Given the description of an element on the screen output the (x, y) to click on. 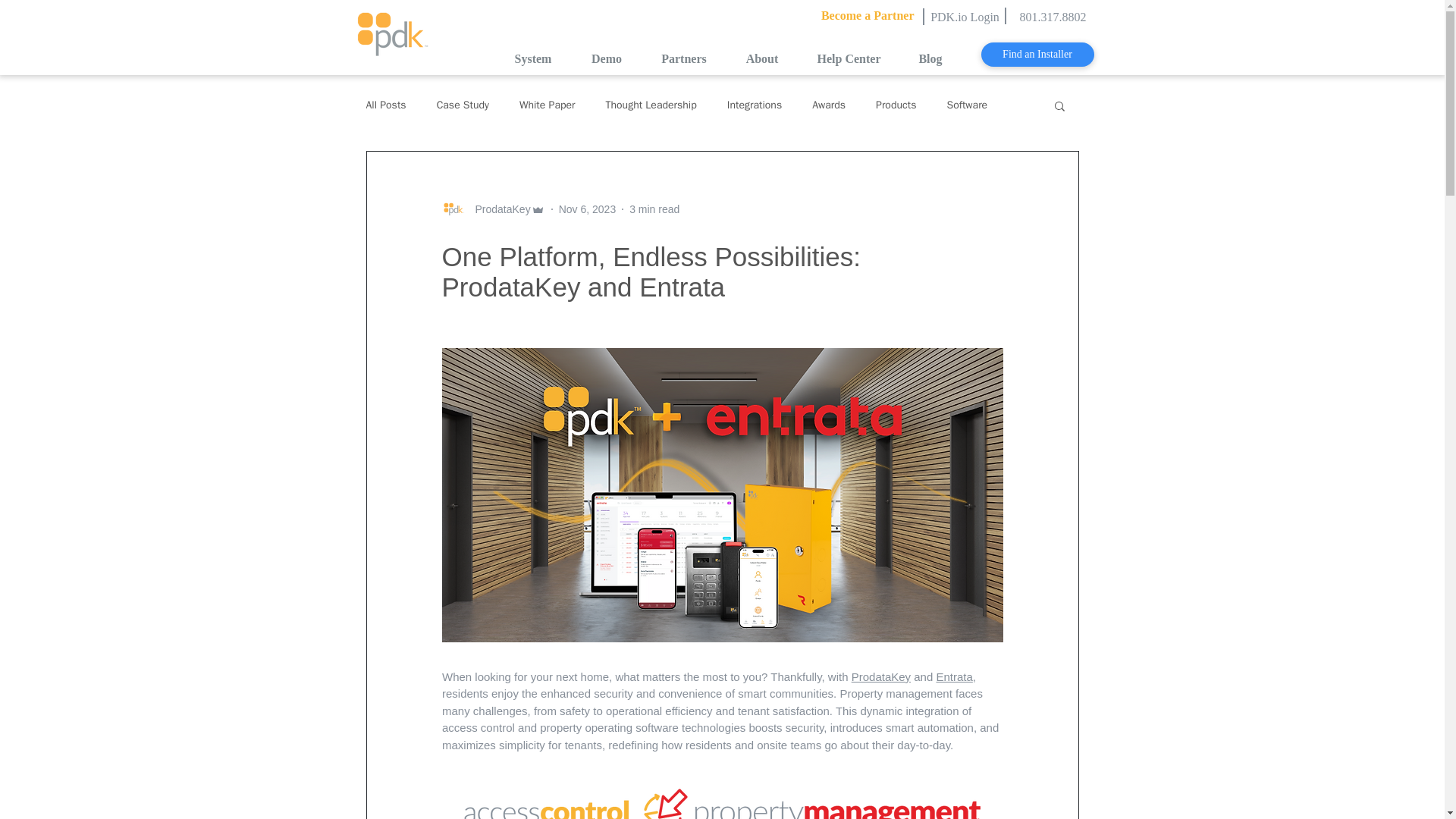
3 min read (653, 209)
ProdataKey (880, 676)
Integrations (753, 105)
White Paper (547, 105)
Blog (929, 58)
Demo (607, 58)
Thought Leadership (651, 105)
Case Study (462, 105)
Help Center (848, 58)
Nov 6, 2023 (587, 209)
